Given the description of an element on the screen output the (x, y) to click on. 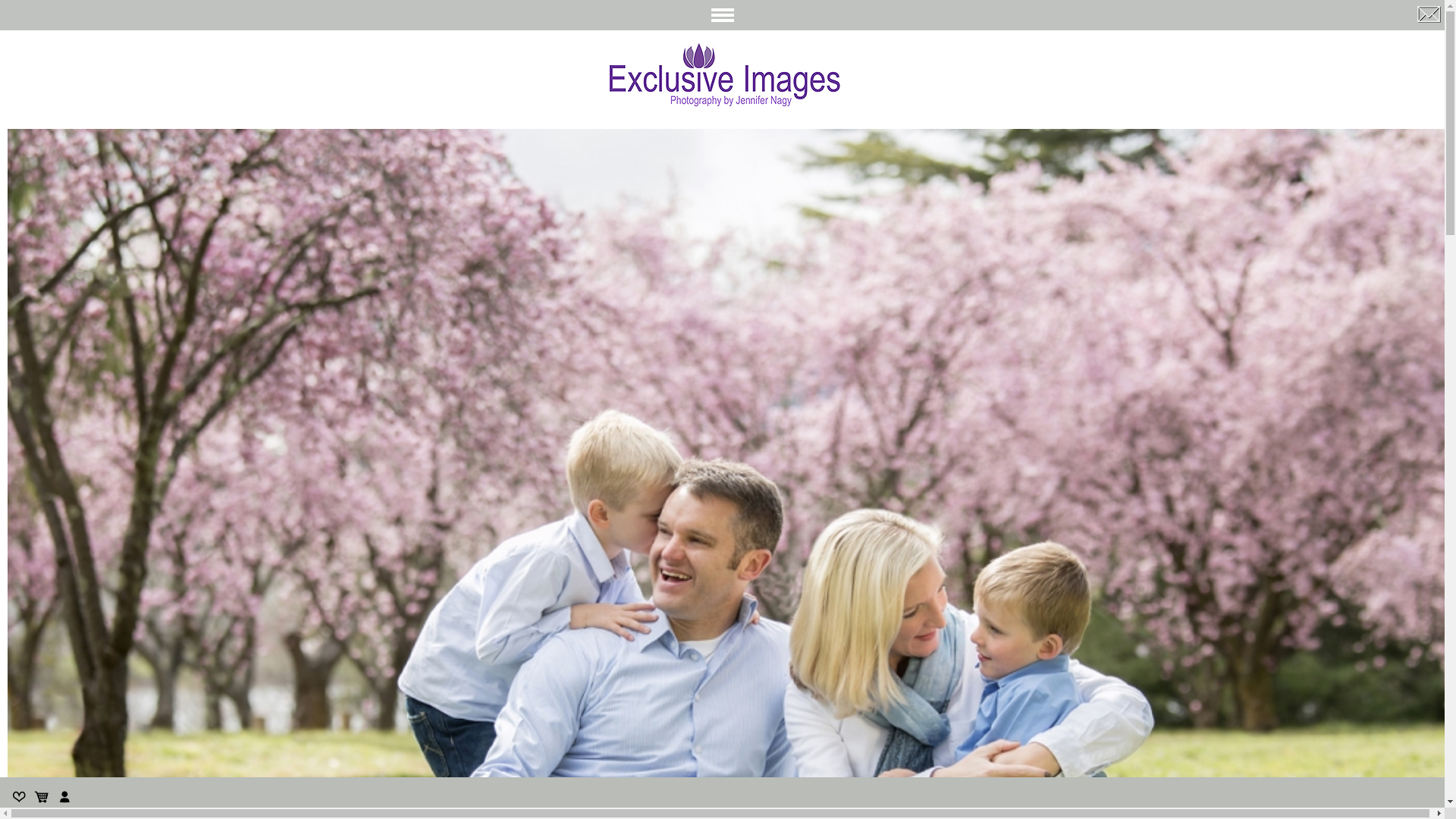
enter password Element type: text (81, 32)
SUBMIT Element type: text (179, 32)
